Given the description of an element on the screen output the (x, y) to click on. 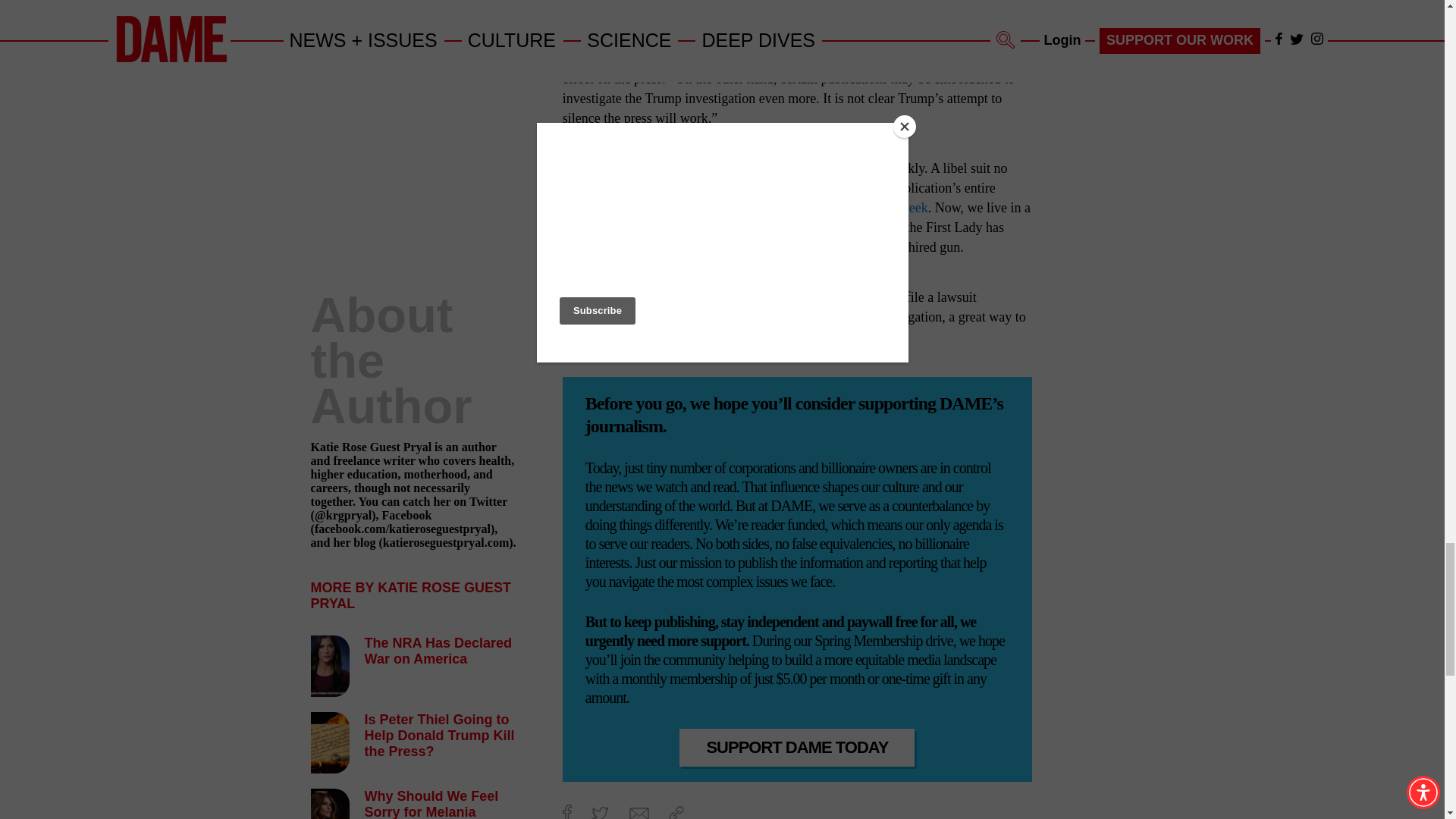
Email (638, 813)
Twitter (599, 812)
Share (676, 812)
